Given the description of an element on the screen output the (x, y) to click on. 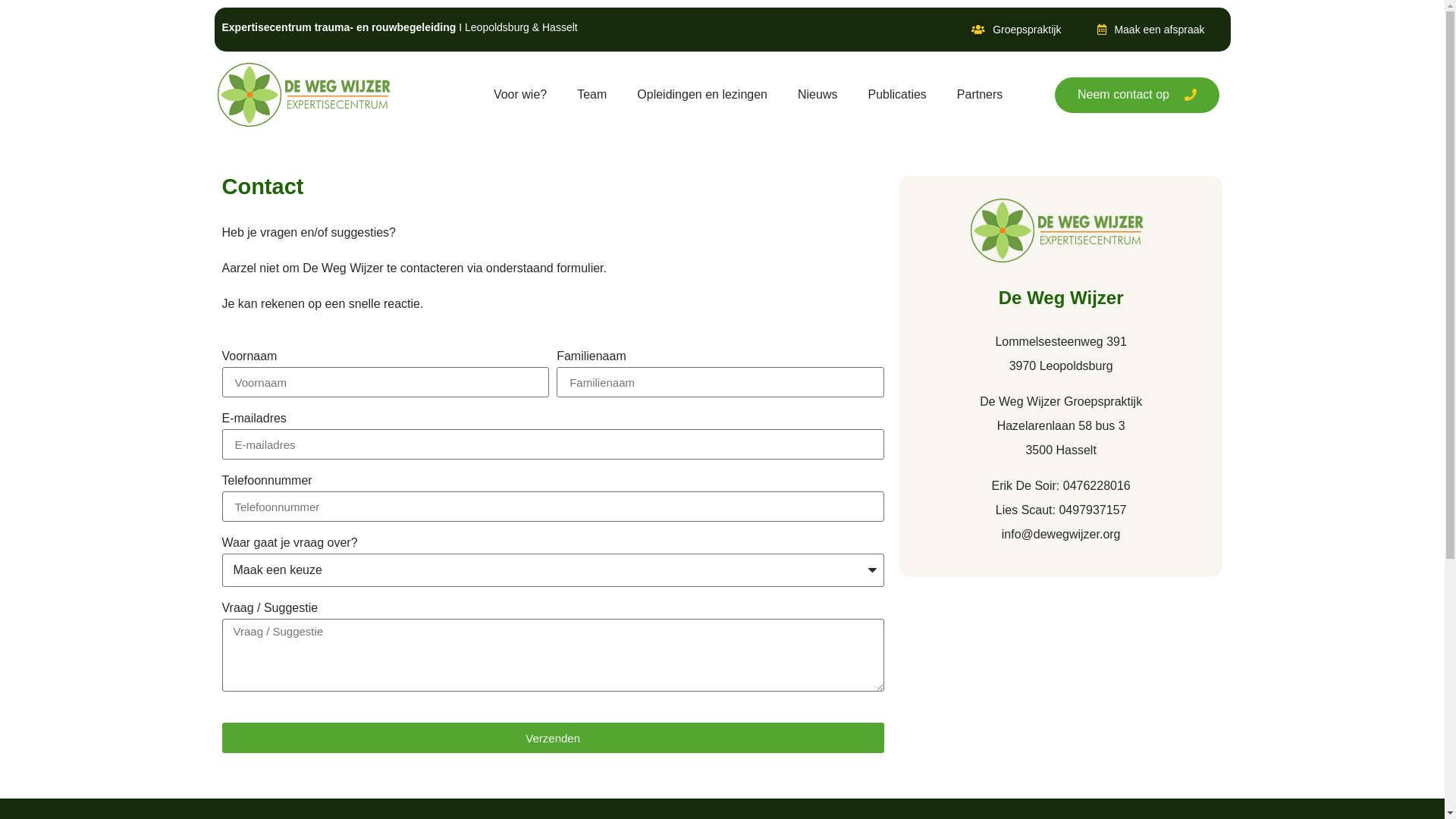
Publicaties Element type: text (896, 94)
Partners Element type: text (979, 94)
Voor wie? Element type: text (519, 94)
Nieuws Element type: text (817, 94)
Team Element type: text (591, 94)
Maak een afspraak Element type: text (1150, 29)
Groepspraktijk Element type: text (1016, 29)
Verzenden Element type: text (552, 737)
Opleidingen en lezingen Element type: text (701, 94)
Neem contact op Element type: text (1136, 94)
